Given the description of an element on the screen output the (x, y) to click on. 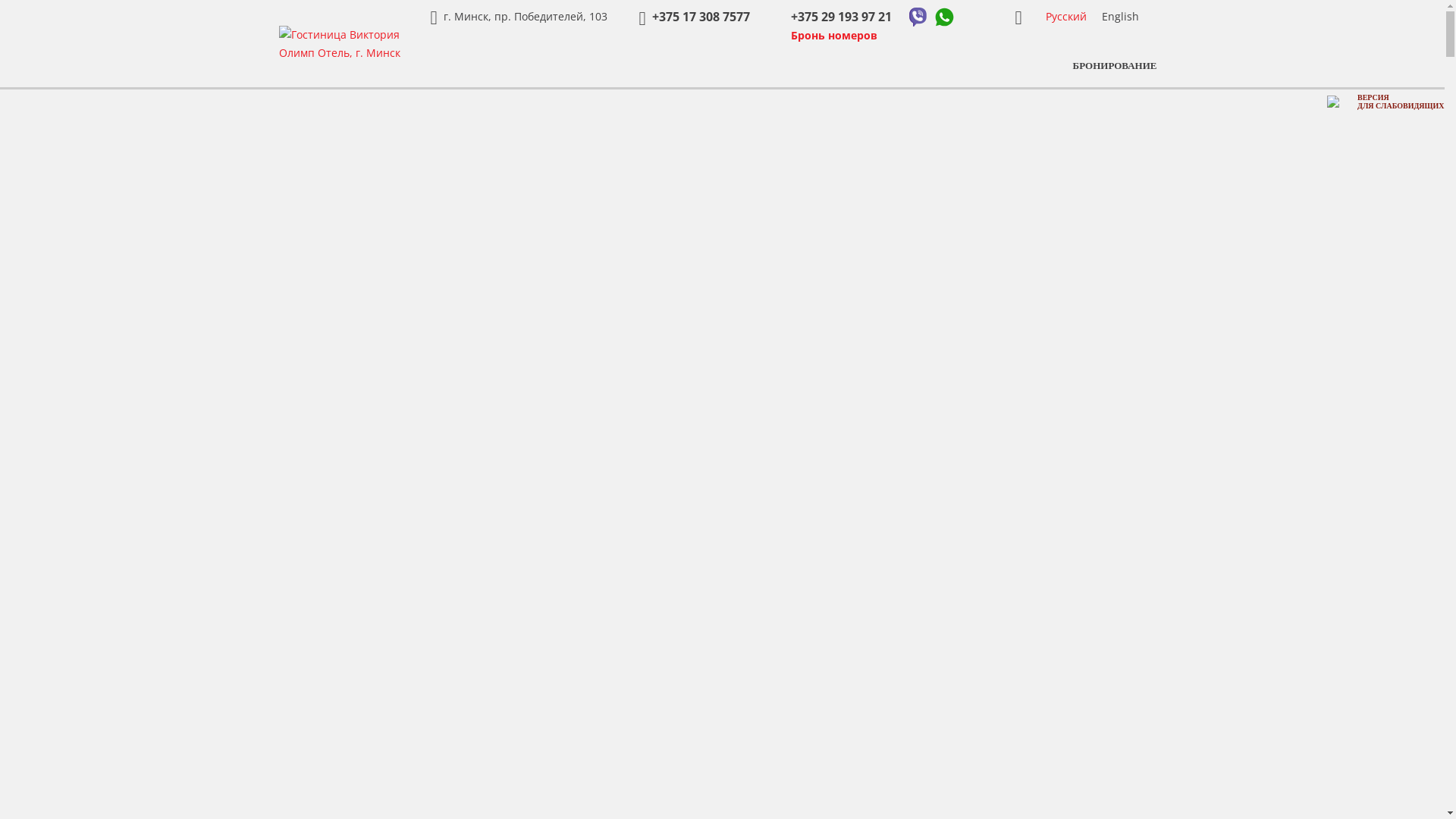
+375 17 308 7577 Element type: text (693, 16)
English Element type: text (1119, 16)
